Given the description of an element on the screen output the (x, y) to click on. 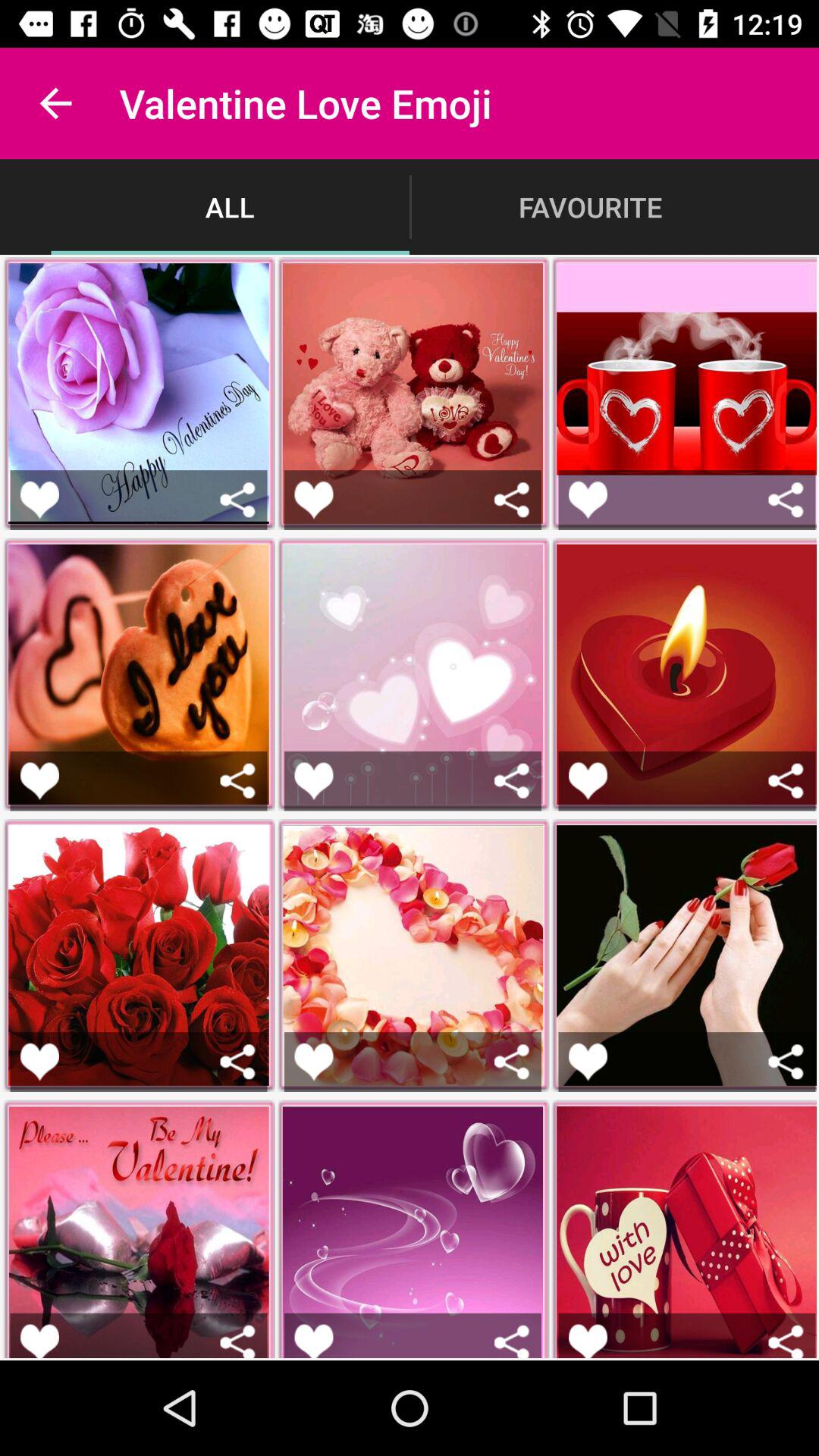
favorite the emoji shown (587, 1061)
